Given the description of an element on the screen output the (x, y) to click on. 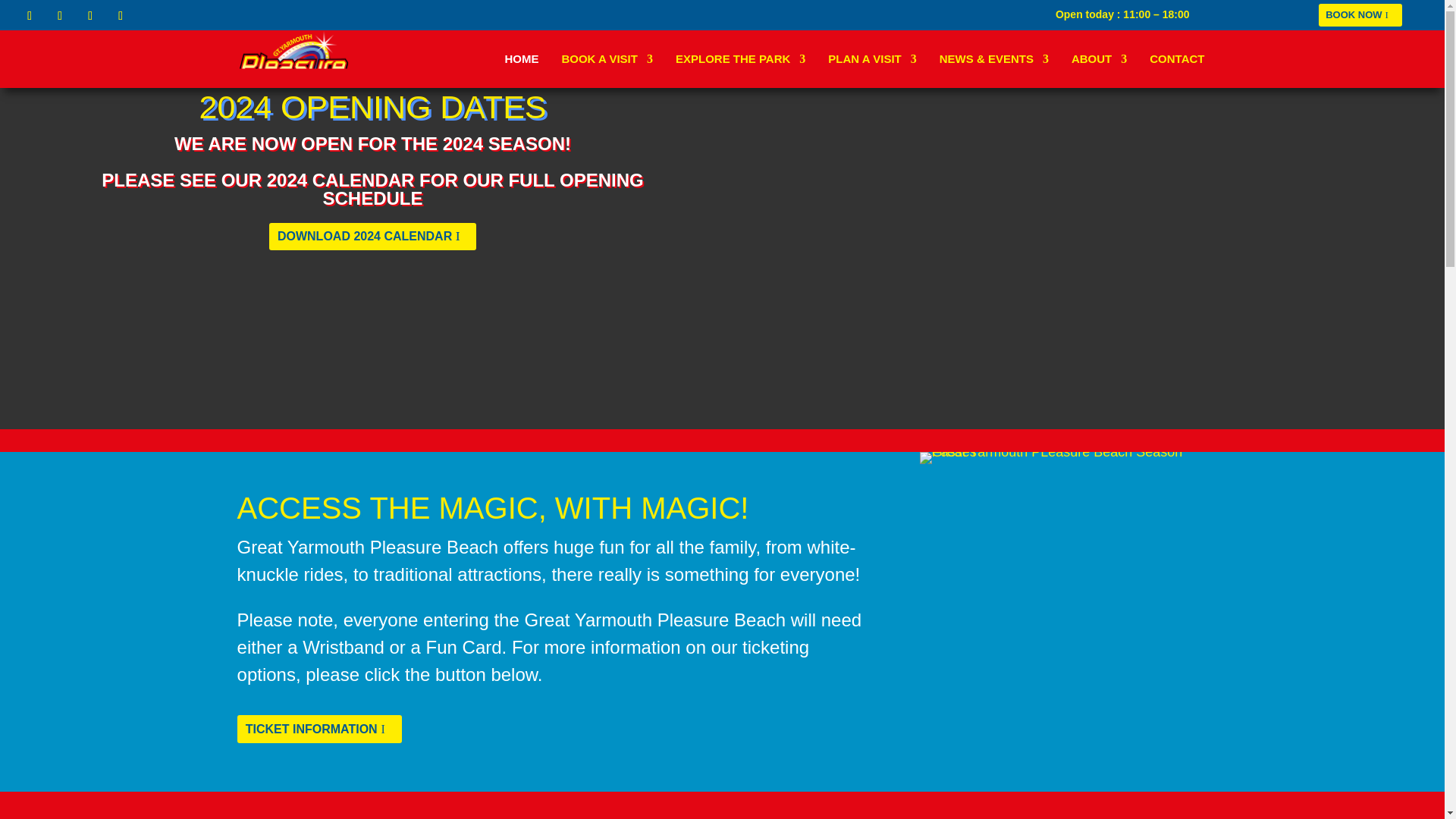
Follow on X (59, 15)
season-pass (1064, 458)
Follow on Instagram (89, 15)
DOWNLOAD 2024 CALENDAR (372, 252)
Follow on Facebook (29, 15)
BOOK NOW (1359, 15)
BOOK A VISIT (606, 58)
PLAN A VISIT (871, 58)
EXPLORE THE PARK (740, 58)
ABOUT (1098, 58)
